Given the description of an element on the screen output the (x, y) to click on. 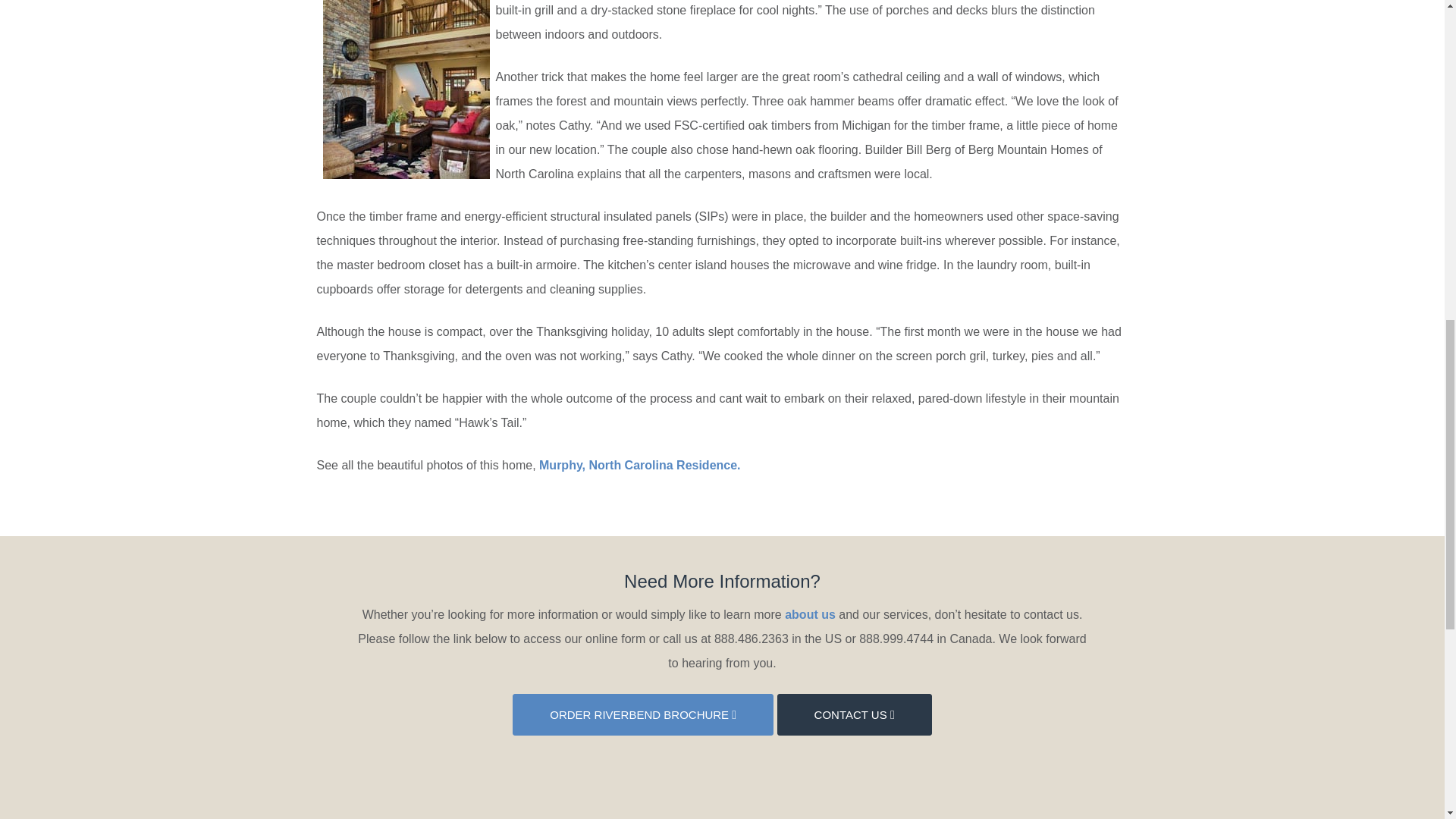
Contact Us (854, 714)
Order Riverbend Brochure (642, 714)
Timber Home with a View (639, 464)
